Given the description of an element on the screen output the (x, y) to click on. 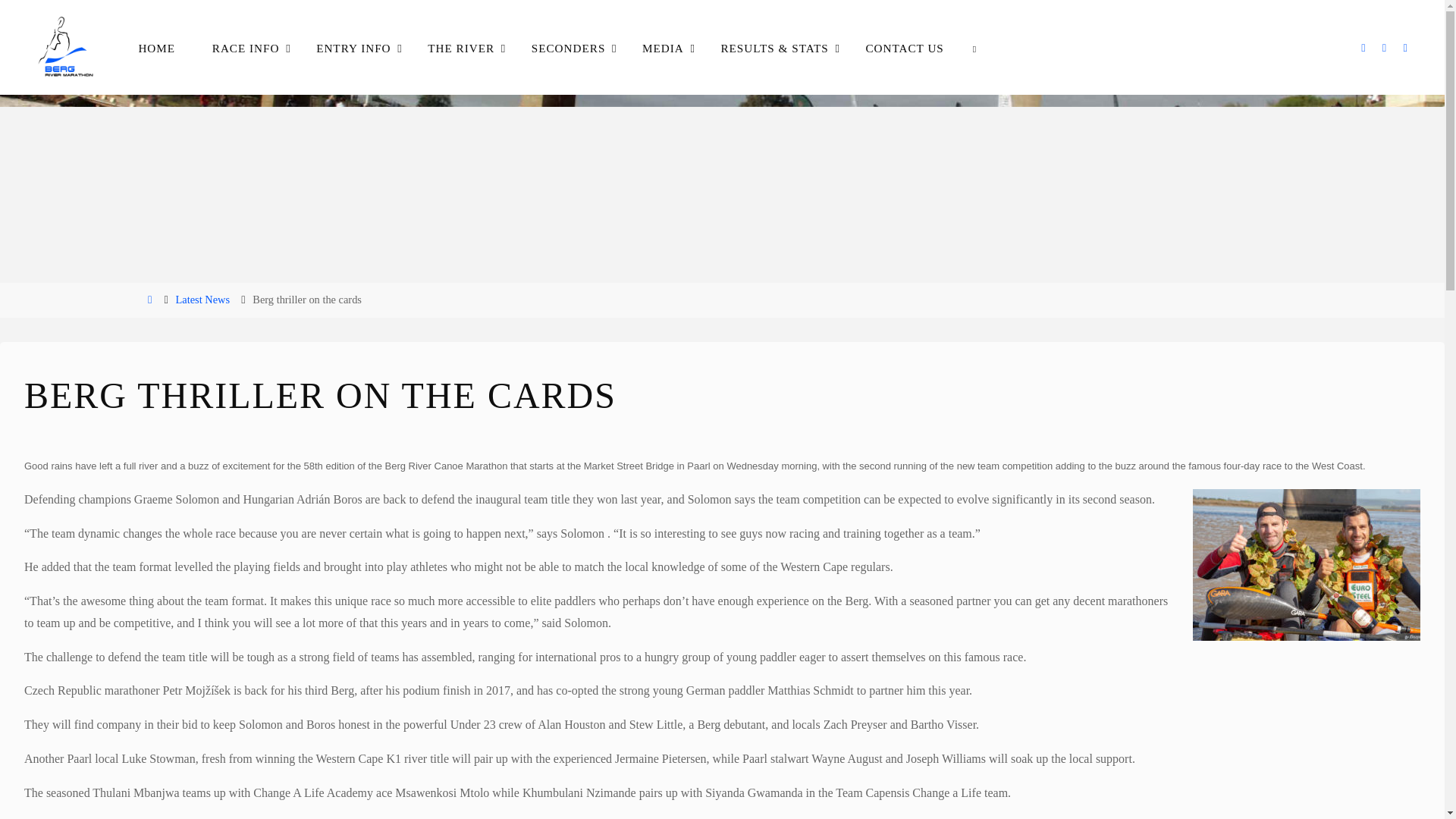
3-6 July 2024 (158, 93)
The Berg River Canoe Marathon (65, 47)
